Given the description of an element on the screen output the (x, y) to click on. 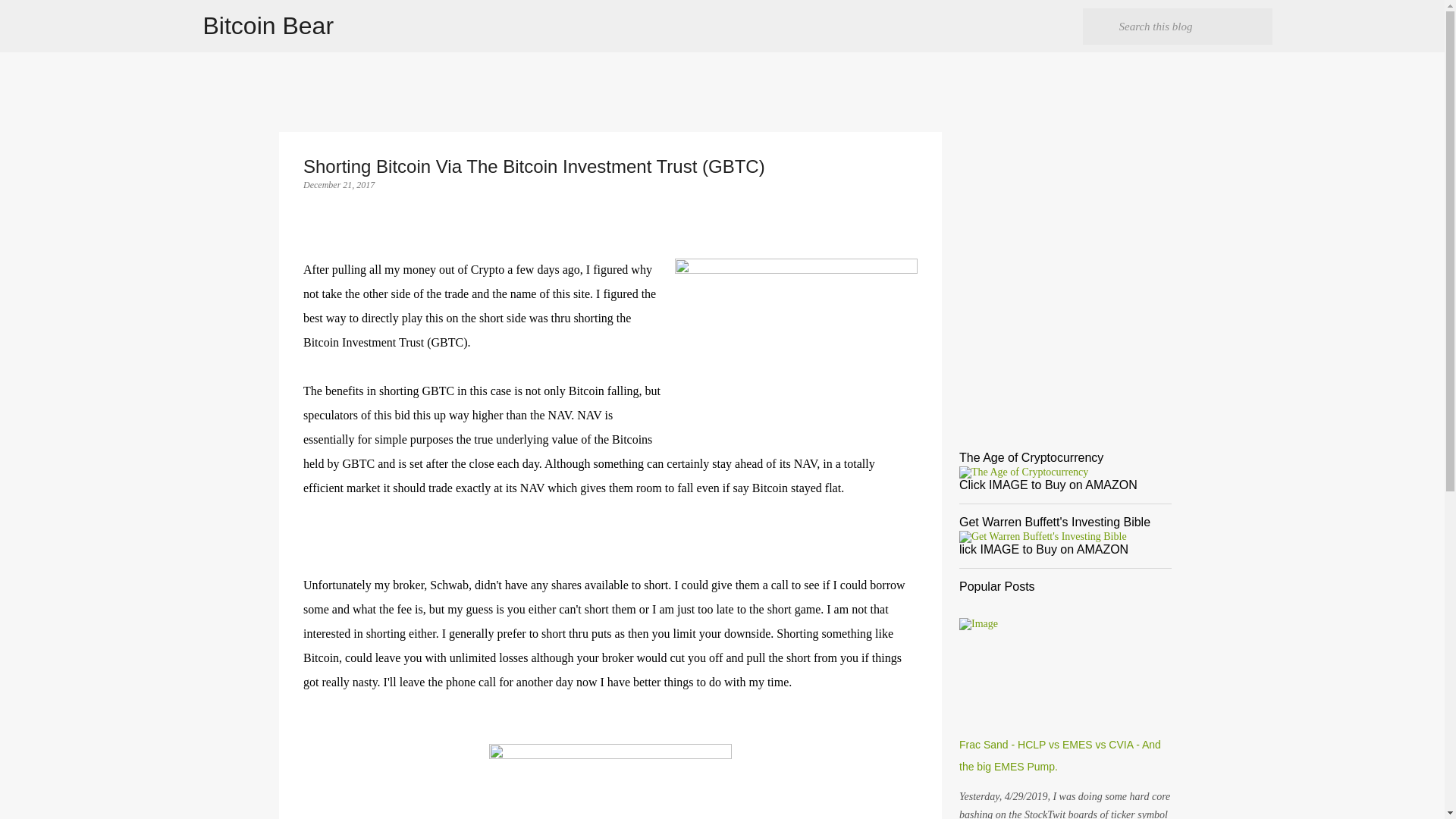
permanent link (338, 184)
Frac Sand - HCLP vs EMES vs CVIA - And the big EMES Pump. (1059, 755)
Bitcoin Bear (268, 25)
December 21, 2017 (338, 184)
